Given the description of an element on the screen output the (x, y) to click on. 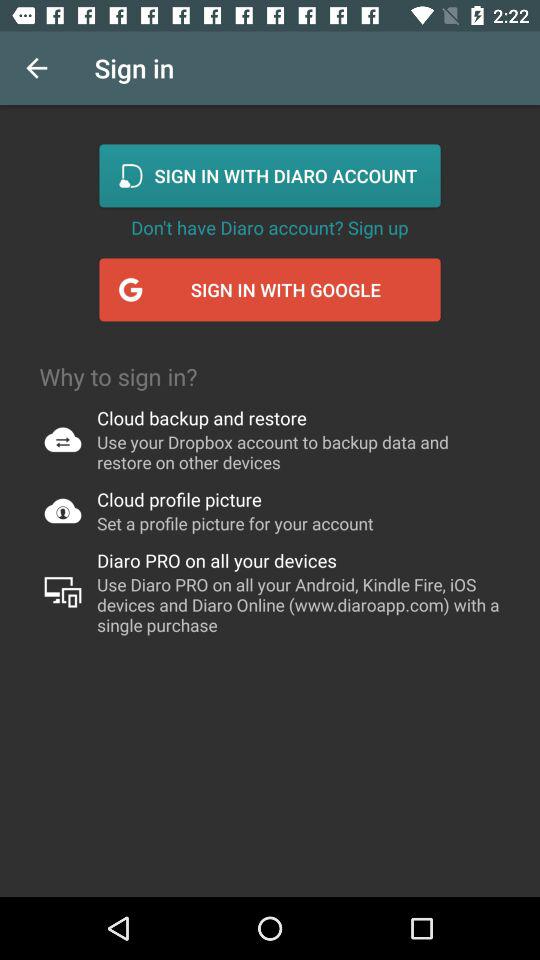
click the icon to the left of sign in (36, 68)
